Given the description of an element on the screen output the (x, y) to click on. 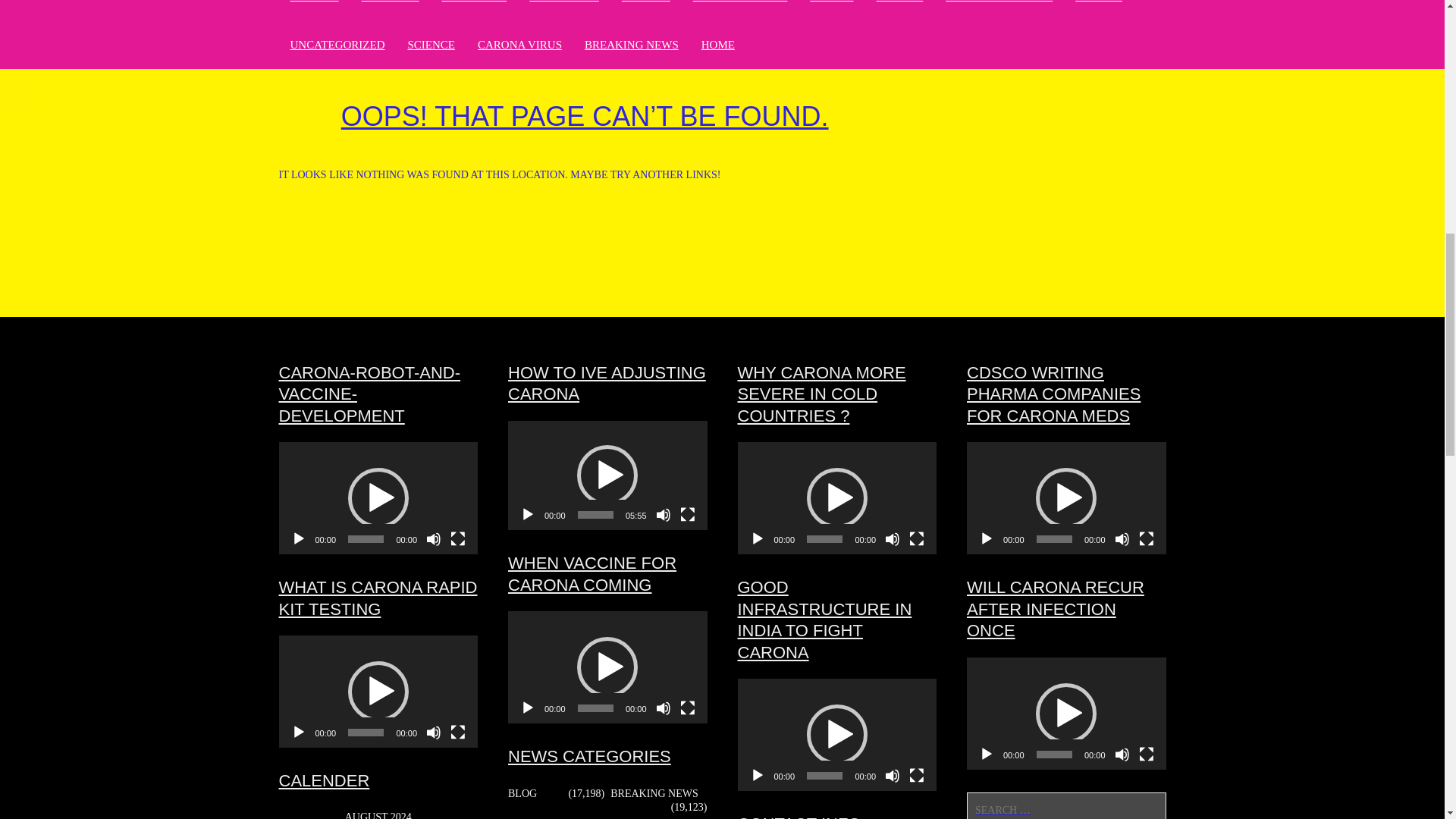
Archieve (390, 4)
Play (298, 539)
SCIENCE (431, 44)
CARONA VIRUS (519, 44)
CRICKET (313, 4)
EDUCATION (473, 4)
Mute (433, 732)
HOME (718, 44)
VIRAL NEWS (563, 4)
TRENDING STORIES (998, 4)
